Given the description of an element on the screen output the (x, y) to click on. 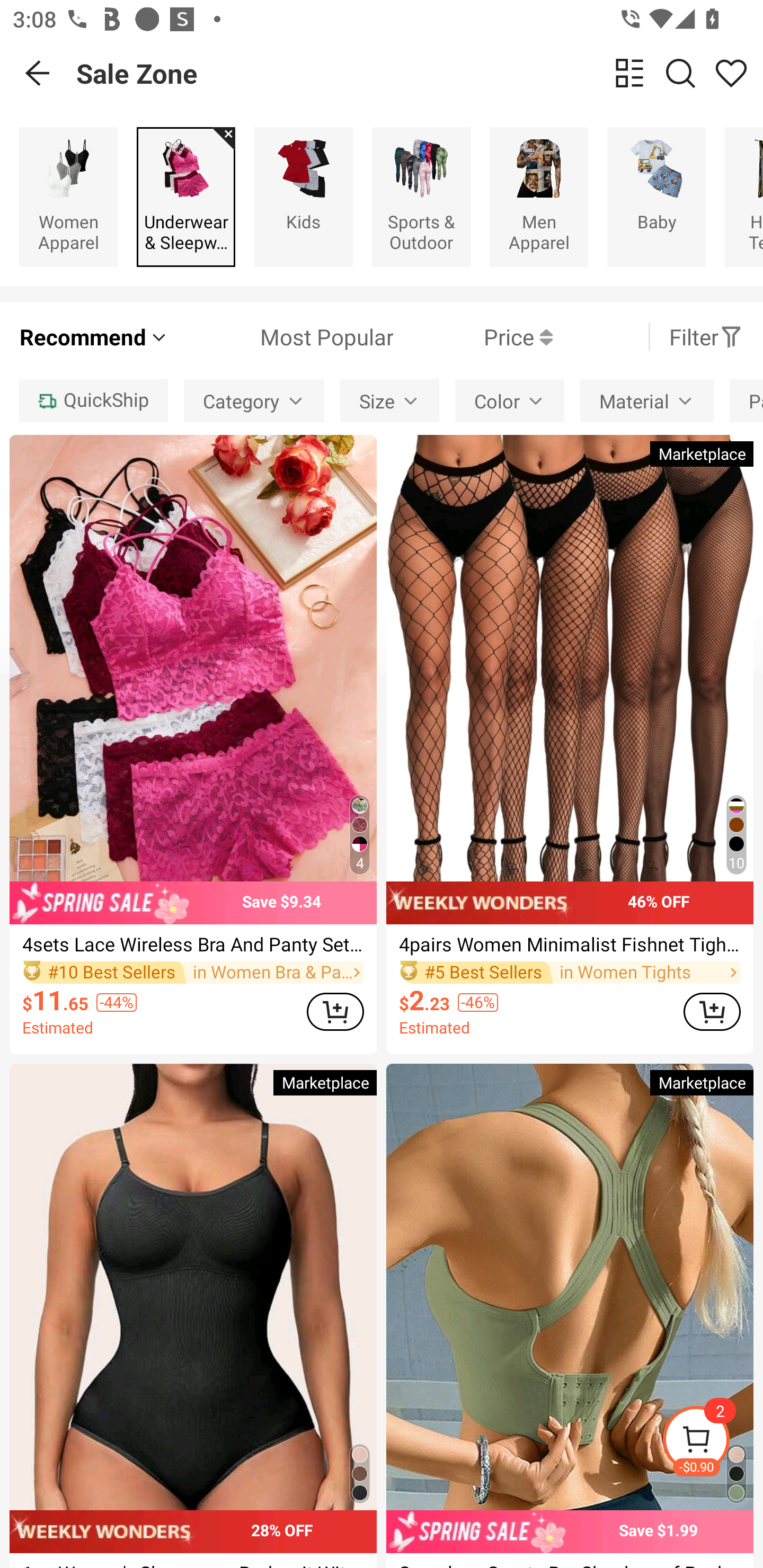
Sale Zone change view Search Share (419, 72)
change view (629, 72)
Search (679, 72)
Share (730, 72)
Women Apparel (68, 196)
Underwear & Sleepwear (185, 196)
Kids (303, 196)
Sports & Outdoor (421, 196)
Men Apparel (538, 196)
Baby (656, 196)
Recommend (94, 336)
Most Popular (280, 336)
Price (472, 336)
Filter (705, 336)
QuickShip (93, 400)
Category (253, 400)
Size (389, 400)
Color (509, 400)
Material (646, 400)
#10 Best Sellers in Women Bra & Panty Sets (192, 971)
#5 Best Sellers in Women Tights (569, 971)
ADD TO CART (334, 1011)
ADD TO CART (711, 1011)
-$0.90 (712, 1441)
